Given the description of an element on the screen output the (x, y) to click on. 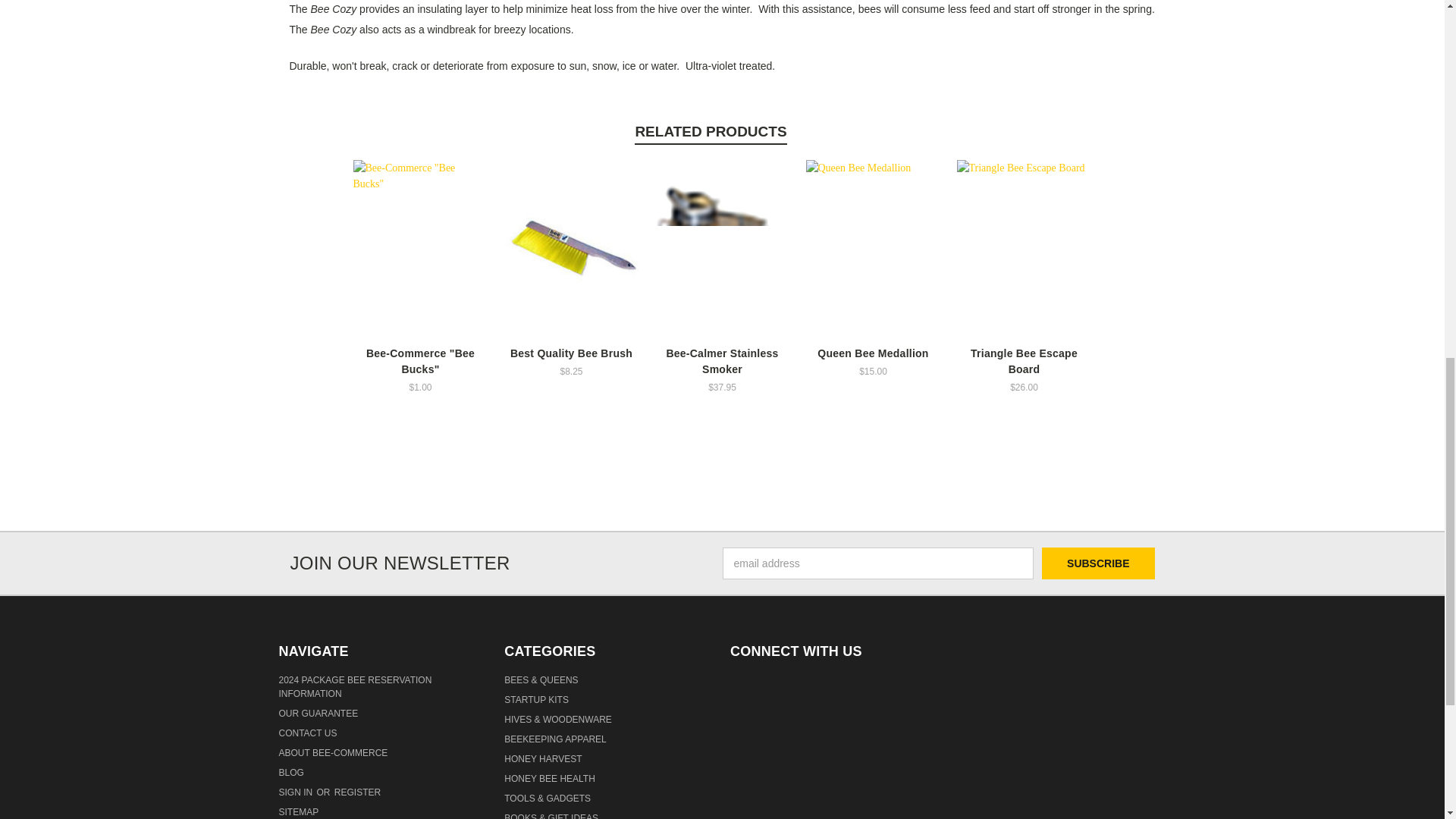
Best Quality Bee Brush (571, 248)
Subscribe (1098, 563)
Bee Calmer Stainless Smoker (722, 248)
